Given the description of an element on the screen output the (x, y) to click on. 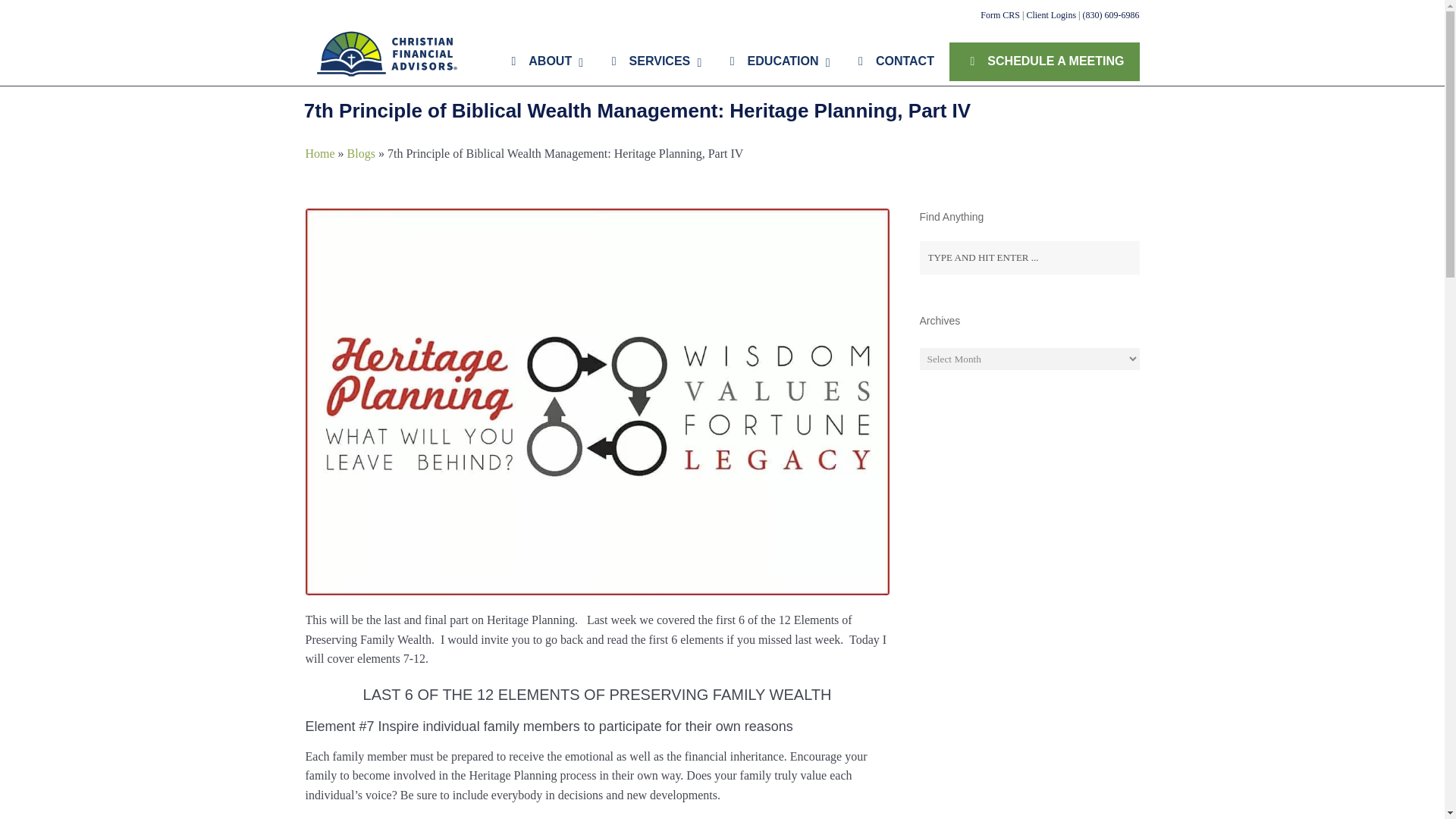
Client Logins (1050, 14)
TYPE AND HIT ENTER ... (1028, 257)
Form CRS (999, 14)
ABOUT (540, 61)
TYPE AND HIT ENTER ... (1028, 257)
